Given the description of an element on the screen output the (x, y) to click on. 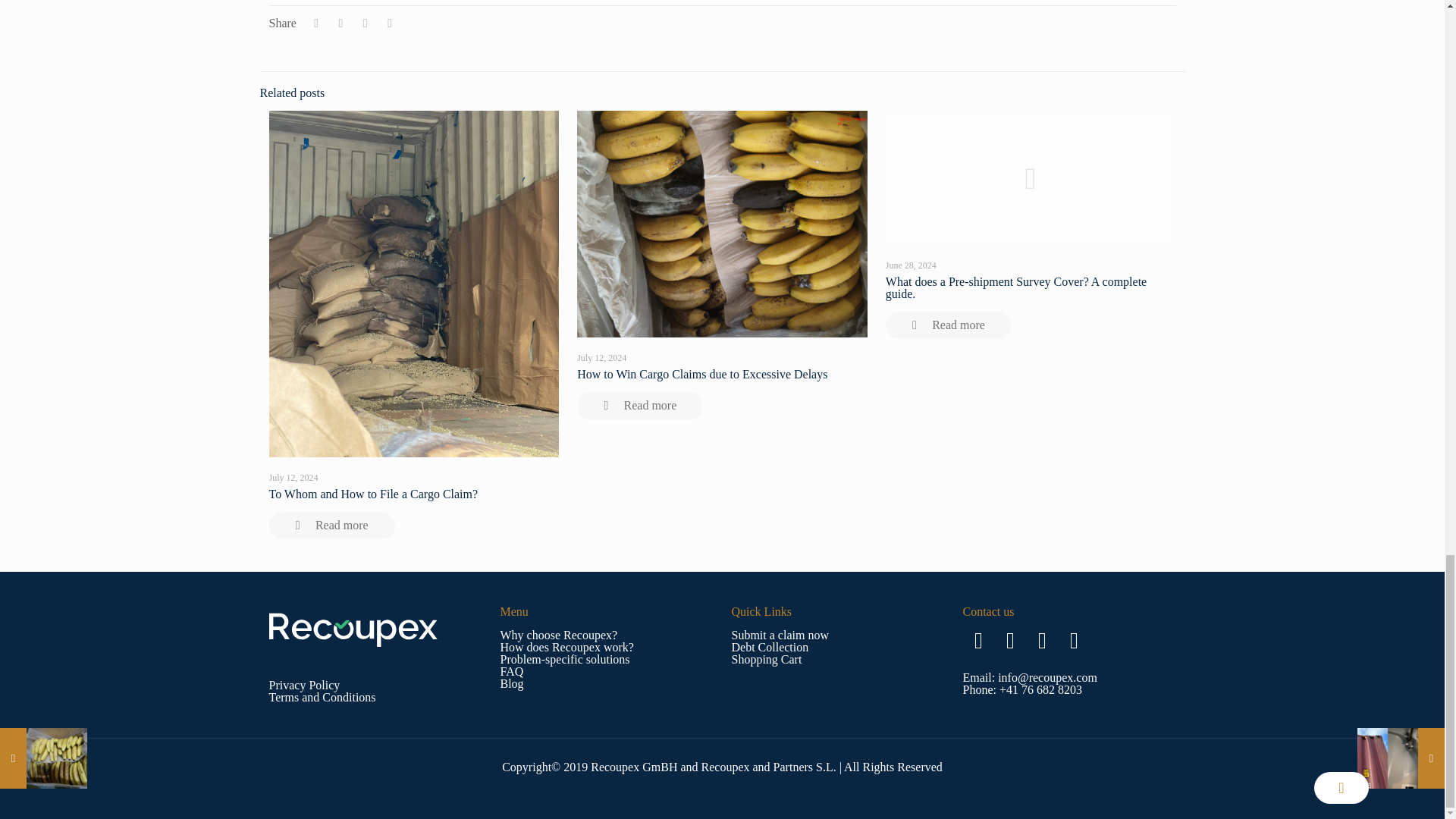
Linkedin (1042, 640)
How does Recoupex work? (566, 646)
Facebook (978, 640)
Why choose Recoupex? (558, 634)
Blog (512, 683)
FAQ (512, 671)
Terms and Conditions (321, 697)
Privacy Policy (303, 684)
Problem-specific solutions (565, 658)
Read more (330, 524)
To Whom and How to File a Cargo Claim? (372, 493)
How to Win Cargo Claims due to Excessive Delays (701, 373)
Read more (948, 325)
Instagram (1010, 640)
YouTube (1074, 640)
